Given the description of an element on the screen output the (x, y) to click on. 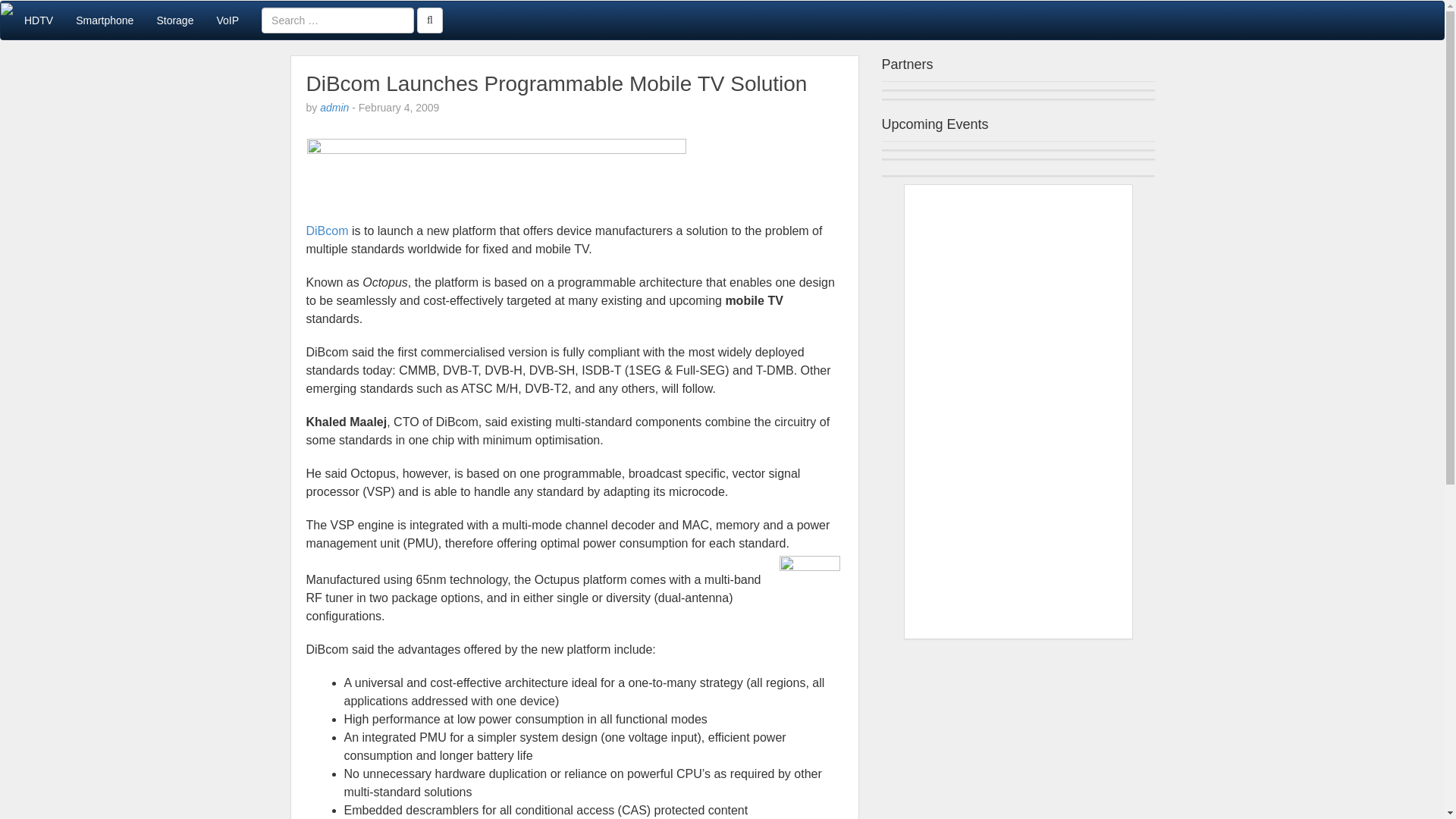
Storage (174, 20)
HDTV (38, 20)
DiBcom Launches Programmable Mobile TV Solution (556, 83)
Posts by admin (334, 107)
DiBcom (327, 230)
VoIP (227, 20)
DiBcom Launches Programmable Mobile TV Solution (556, 83)
admin (334, 107)
Smartphone (104, 20)
